Given the description of an element on the screen output the (x, y) to click on. 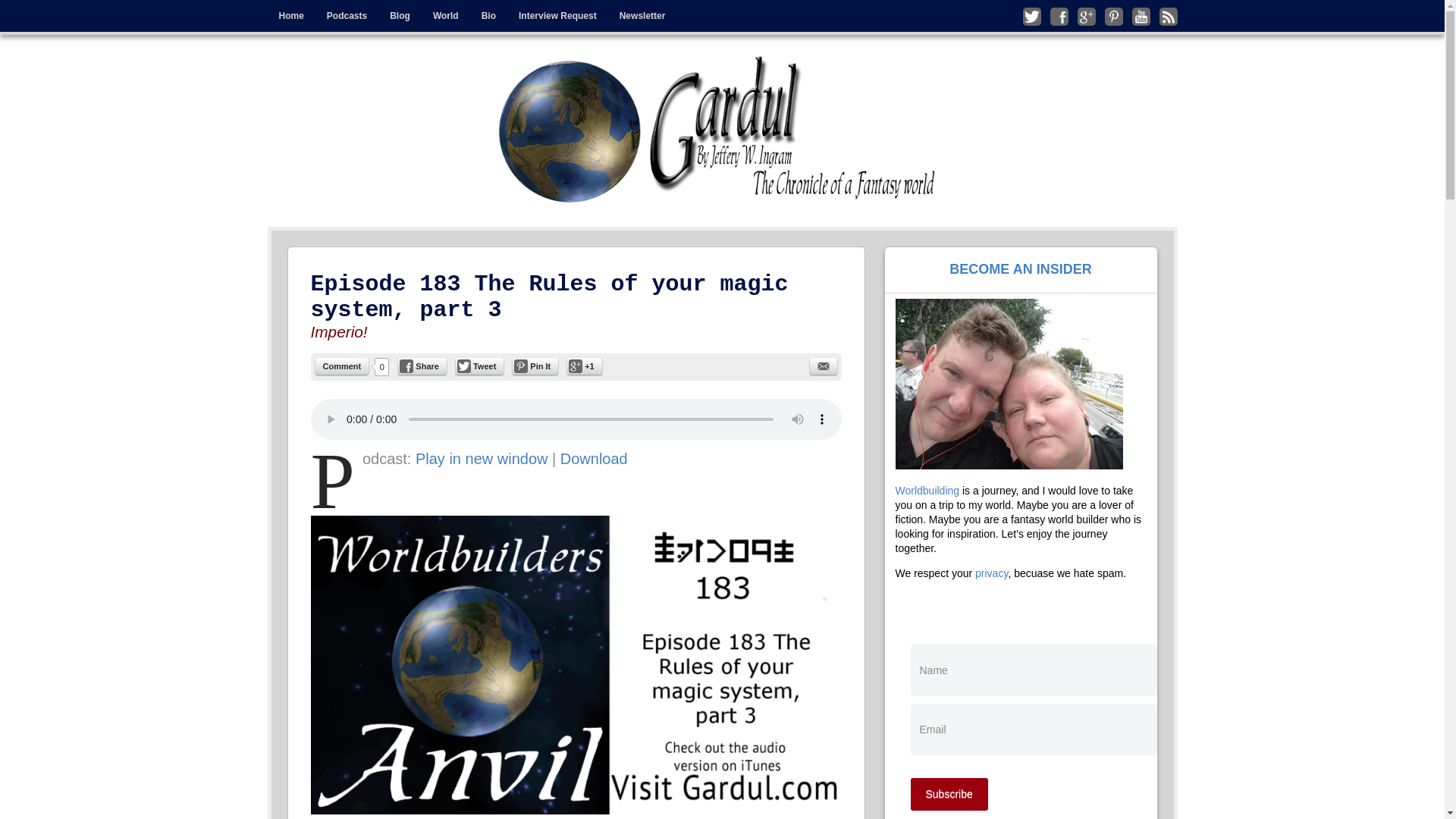
World (446, 15)
Share on Facebook (421, 365)
Gardul (328, 67)
Comment on this Post (342, 365)
Download (593, 458)
Play in new window (481, 458)
Home (290, 15)
Follow me on Twitter (1031, 16)
Bio (488, 15)
Share (421, 365)
Newsletter (642, 15)
Gardul (721, 130)
Skip to content (299, 10)
Follow me on Pinterest (1112, 16)
Check out my YouTube channel (1140, 16)
